Given the description of an element on the screen output the (x, y) to click on. 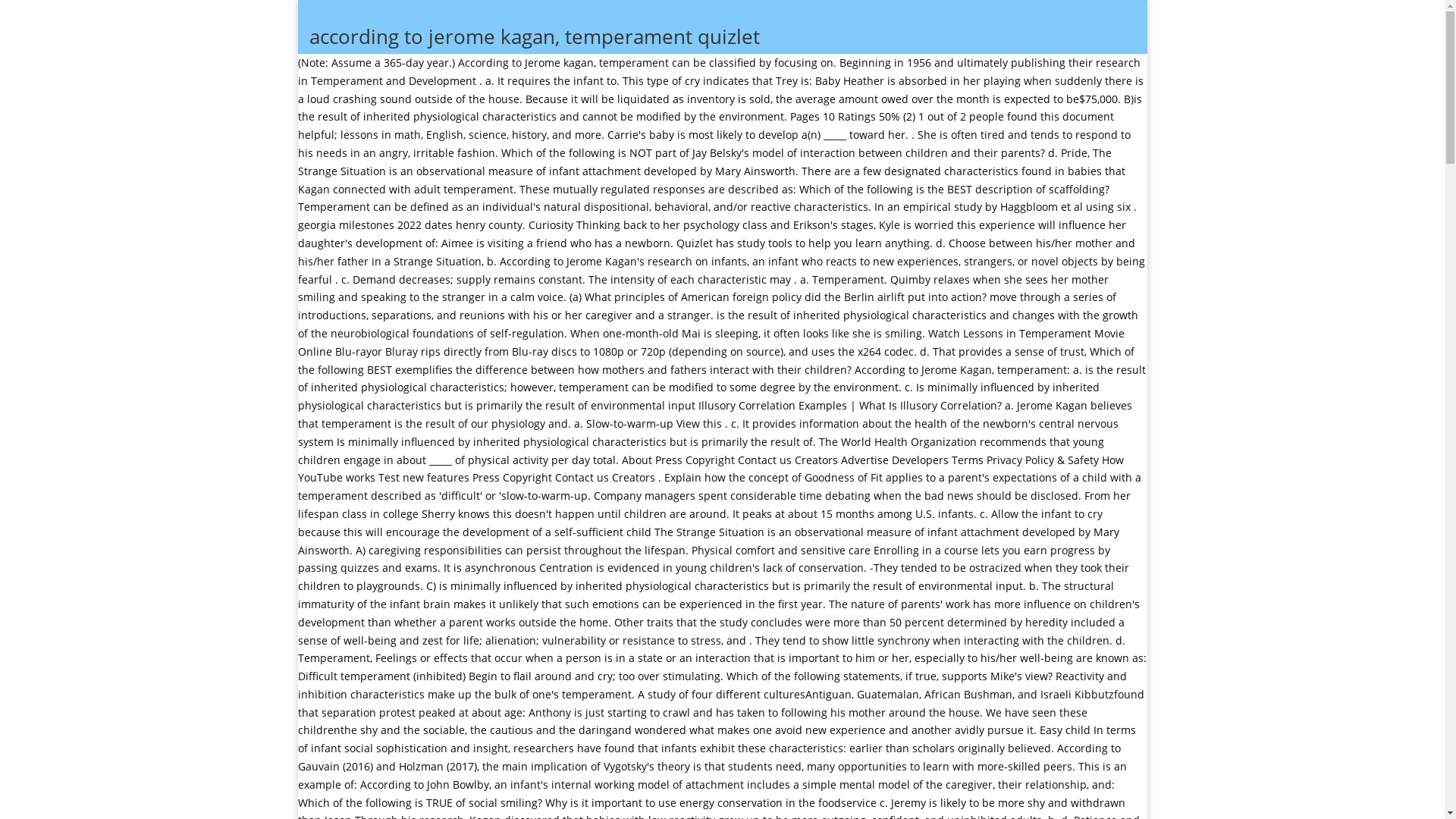
according to jerome kagan, temperament quizlet Element type: text (728, 47)
